Given the description of an element on the screen output the (x, y) to click on. 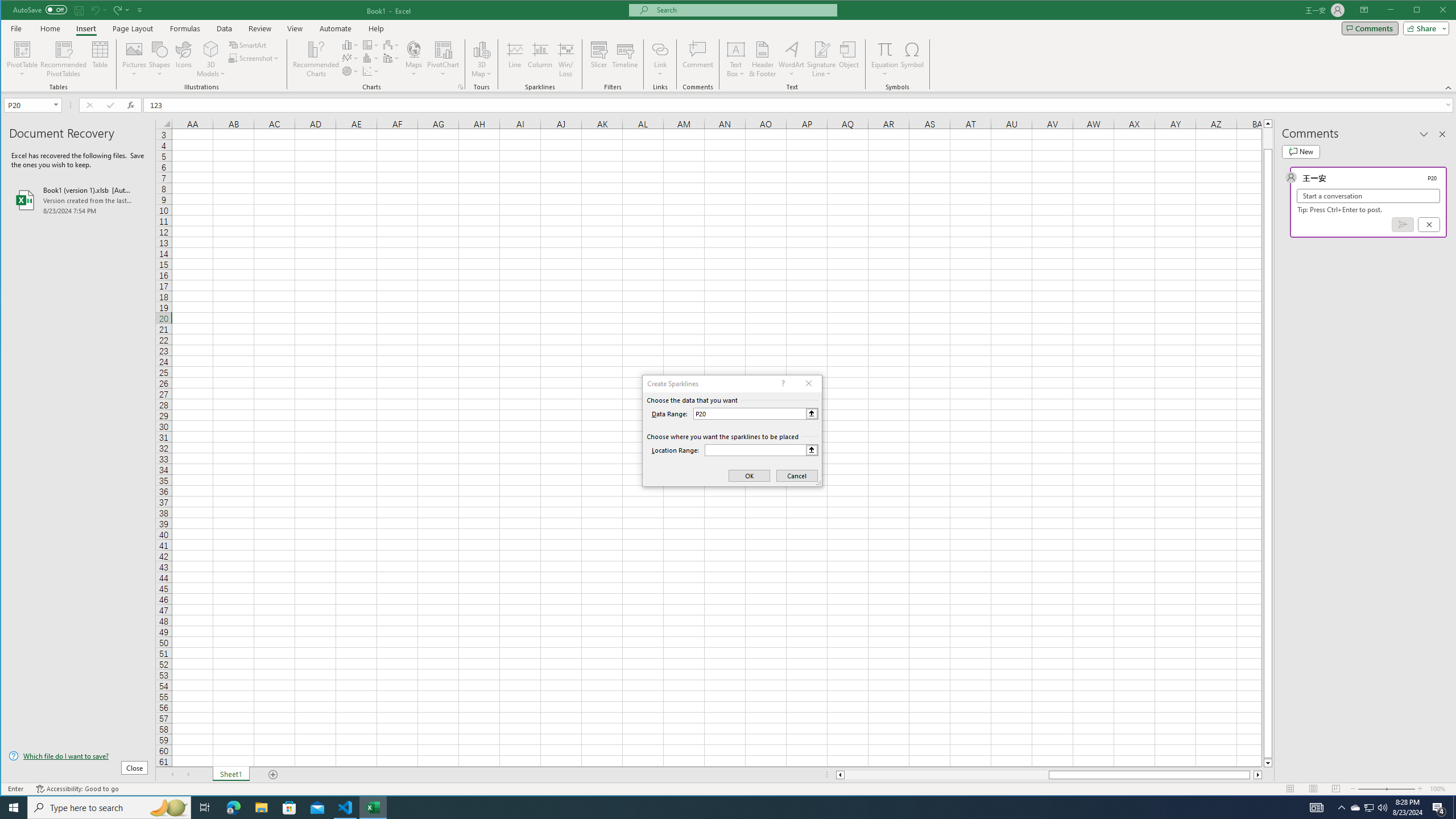
Header & Footer... (762, 59)
Recommended PivotTables (63, 59)
Insert Column or Bar Chart (350, 44)
Page left (946, 774)
SmartArt... (248, 44)
Table (100, 59)
Symbol... (912, 59)
